Given the description of an element on the screen output the (x, y) to click on. 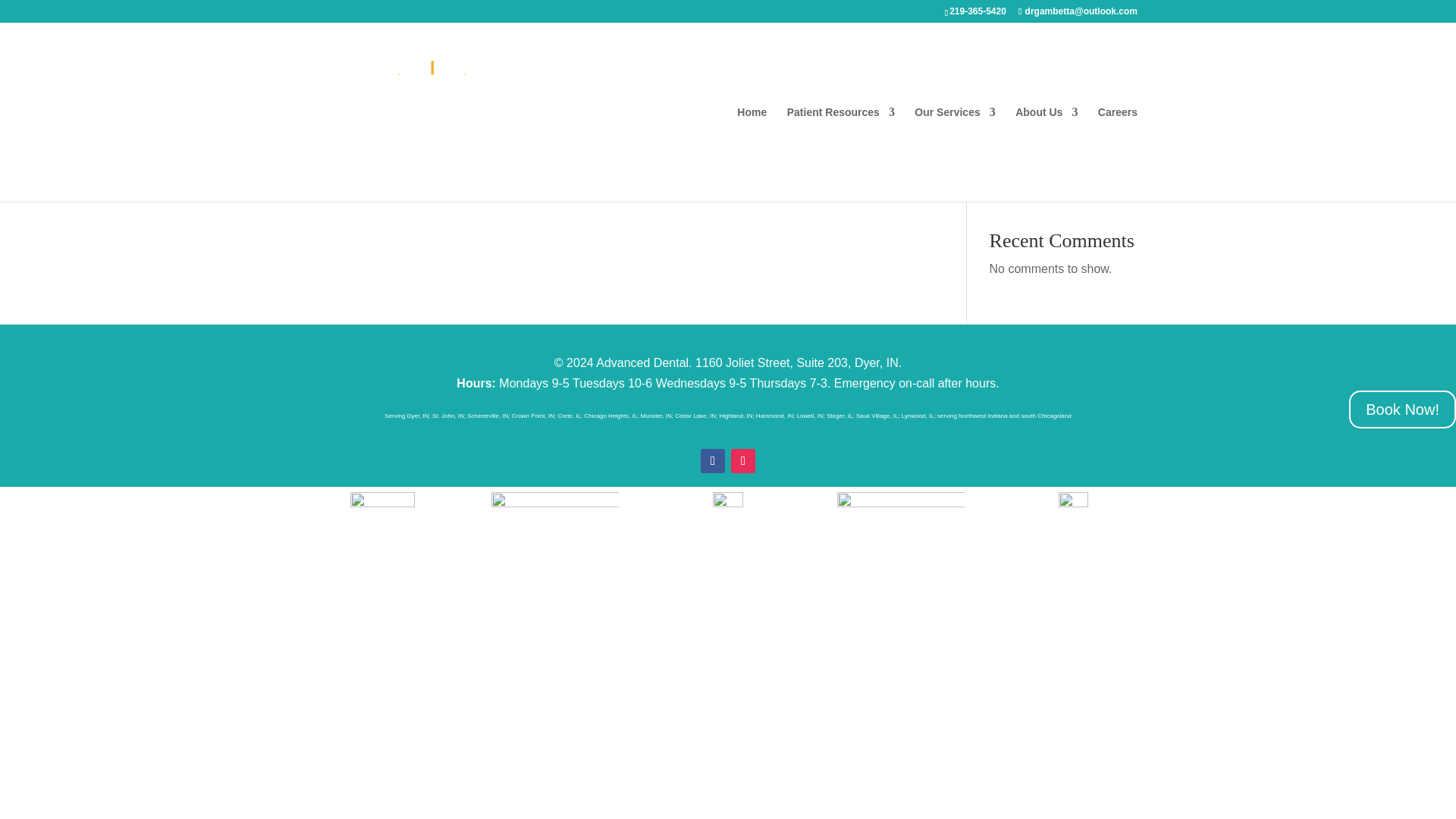
invisalign (555, 507)
Follow on Instagram (742, 460)
Search (1112, 142)
Patient Resources (841, 154)
advanced-dental-care-credit (900, 499)
Follow on Facebook (712, 460)
